Given the description of an element on the screen output the (x, y) to click on. 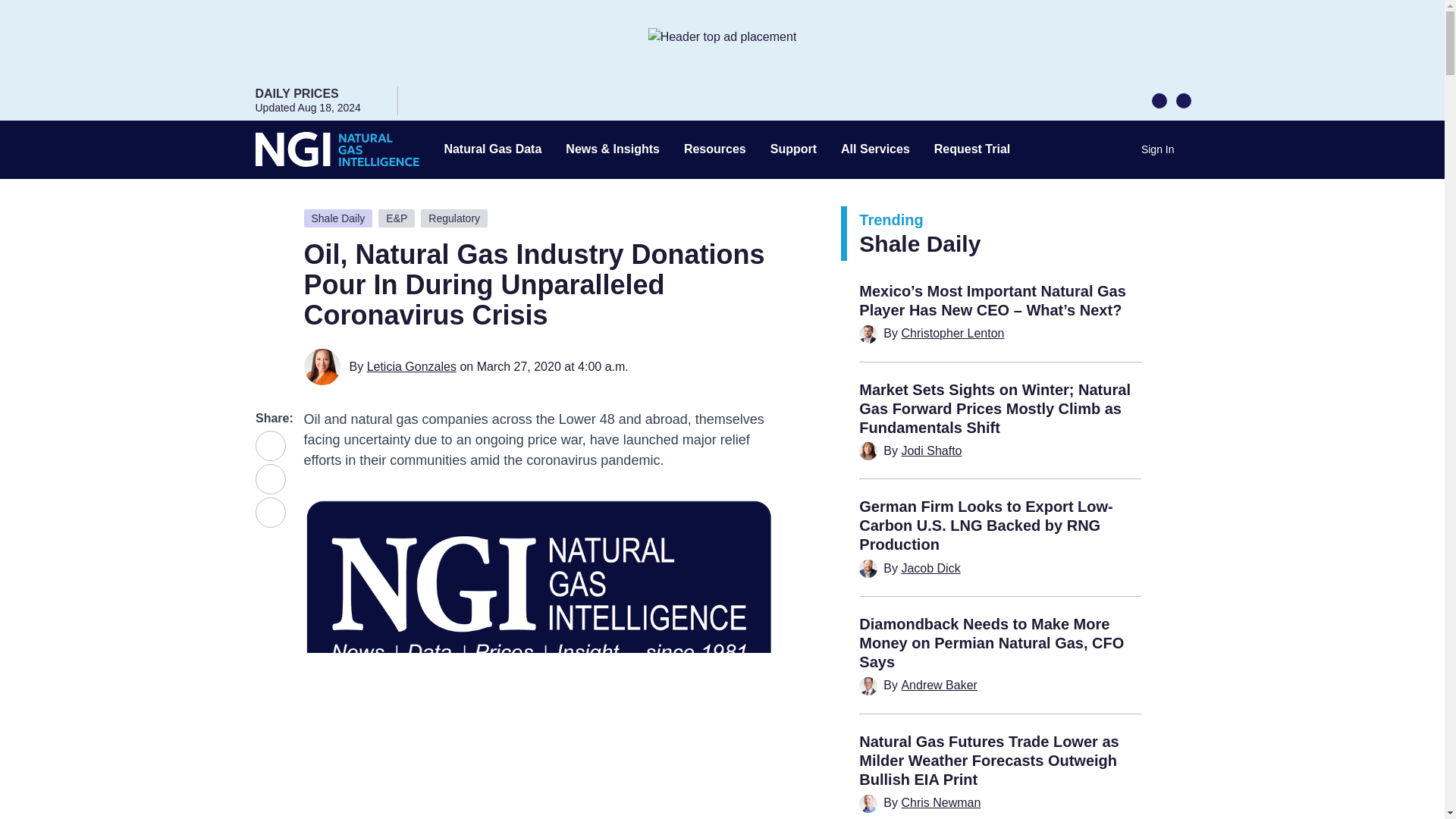
Natural Gas Data (492, 149)
Scroll Right (1182, 99)
Scroll Left (1158, 99)
